Given the description of an element on the screen output the (x, y) to click on. 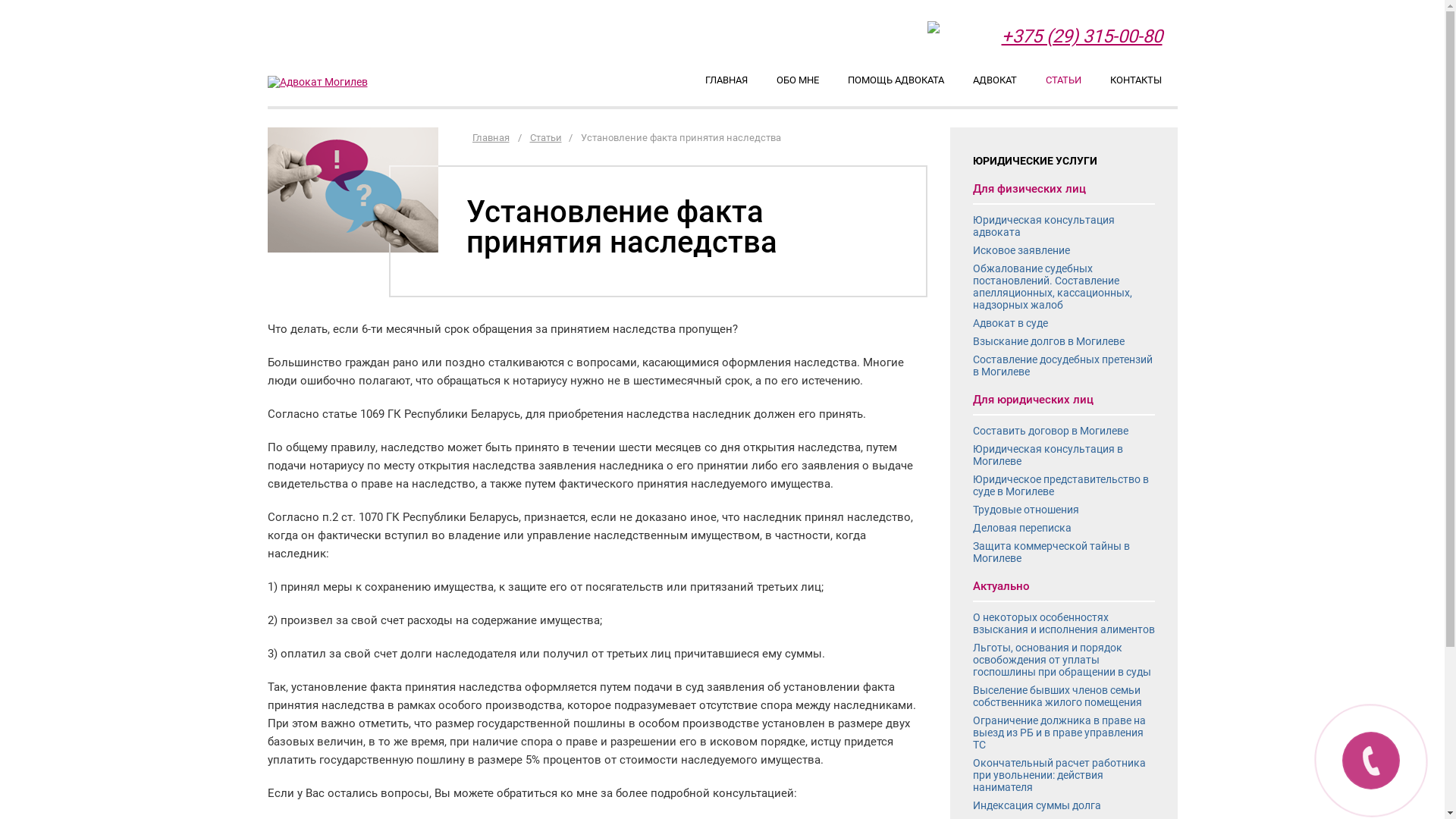
+375 (29) 315-00-80 Element type: text (1081, 36)
